Given the description of an element on the screen output the (x, y) to click on. 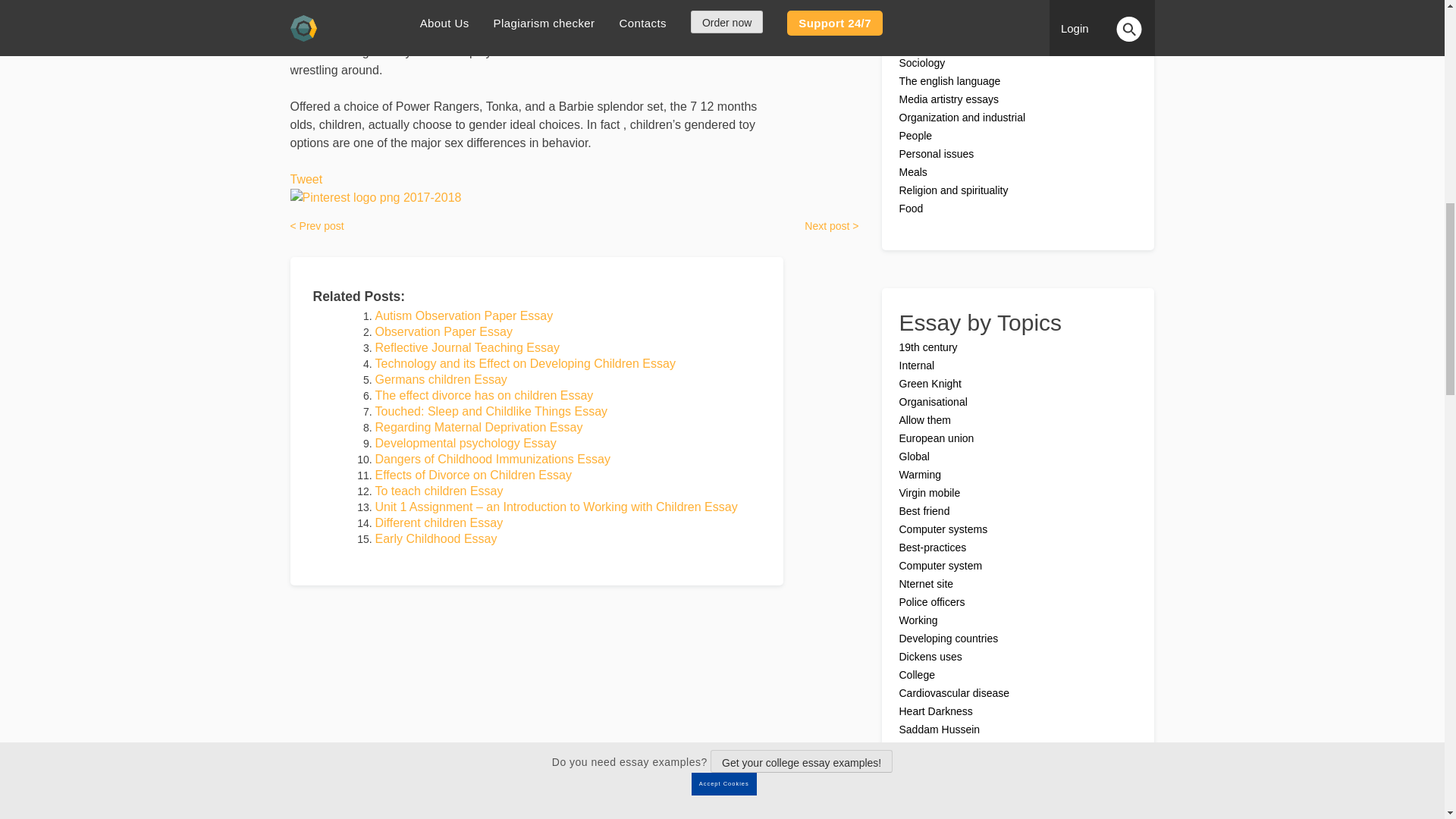
Developmental psychology Essay (465, 442)
Regarding Maternal Deprivation Essay (478, 427)
Autism Observation Paper Essay (463, 315)
Autism Observation Paper Essay (463, 315)
Different children Essay (438, 522)
Reflective Journal Teaching Essay (466, 347)
Germans children Essay (440, 379)
Dangers of Childhood Immunizations Essay (492, 459)
Dangers of Childhood Immunizations Essay (492, 459)
Observation Paper Essay (443, 331)
Observation Paper Essay (443, 331)
Early Childhood Essay (435, 538)
Tweet (305, 178)
Developmental psychology Essay (465, 442)
Technology and its Effect on Developing Children Essay (524, 363)
